Given the description of an element on the screen output the (x, y) to click on. 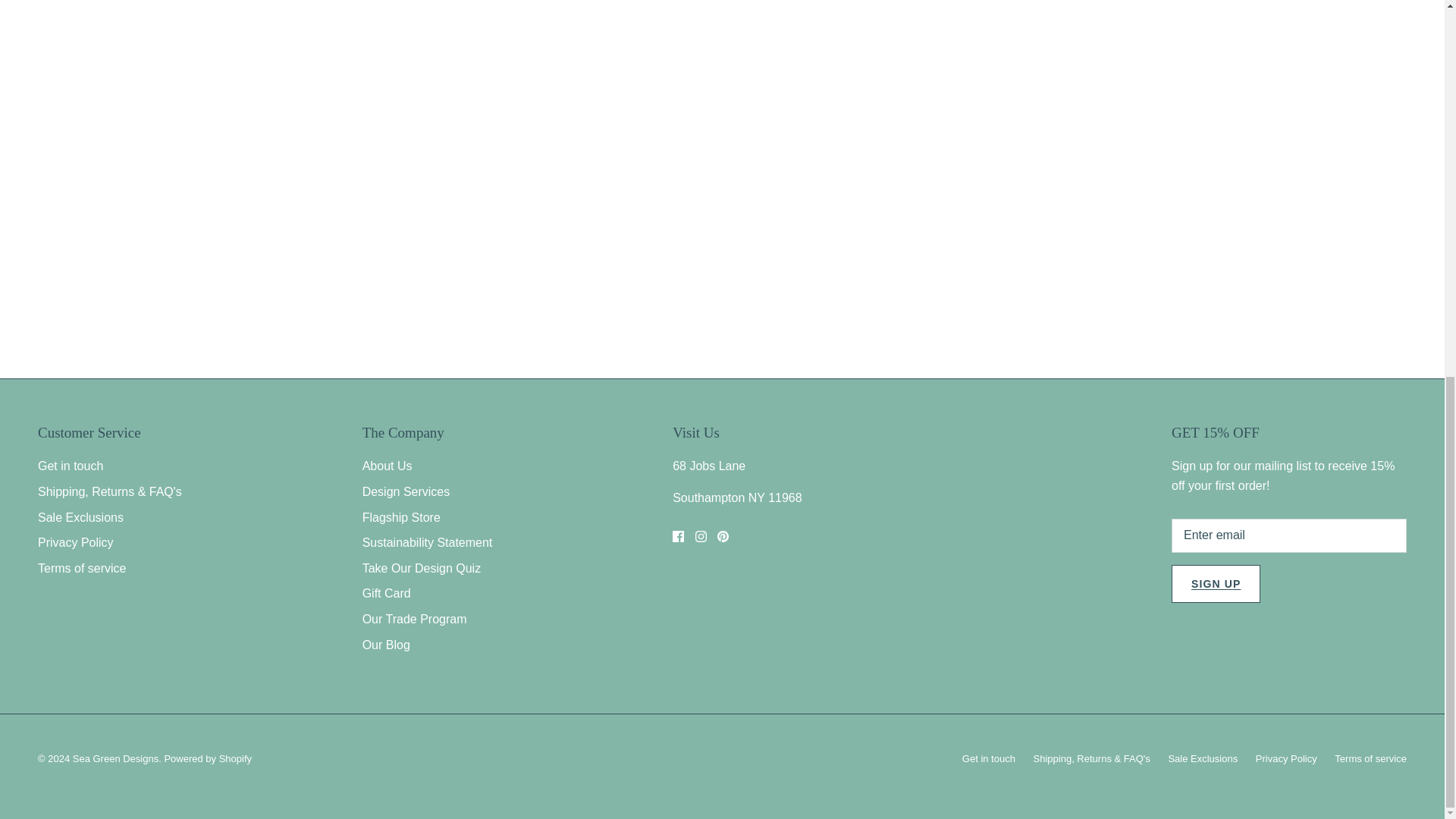
Facebook (678, 536)
Instagram (700, 536)
Pinterest (723, 536)
